Given the description of an element on the screen output the (x, y) to click on. 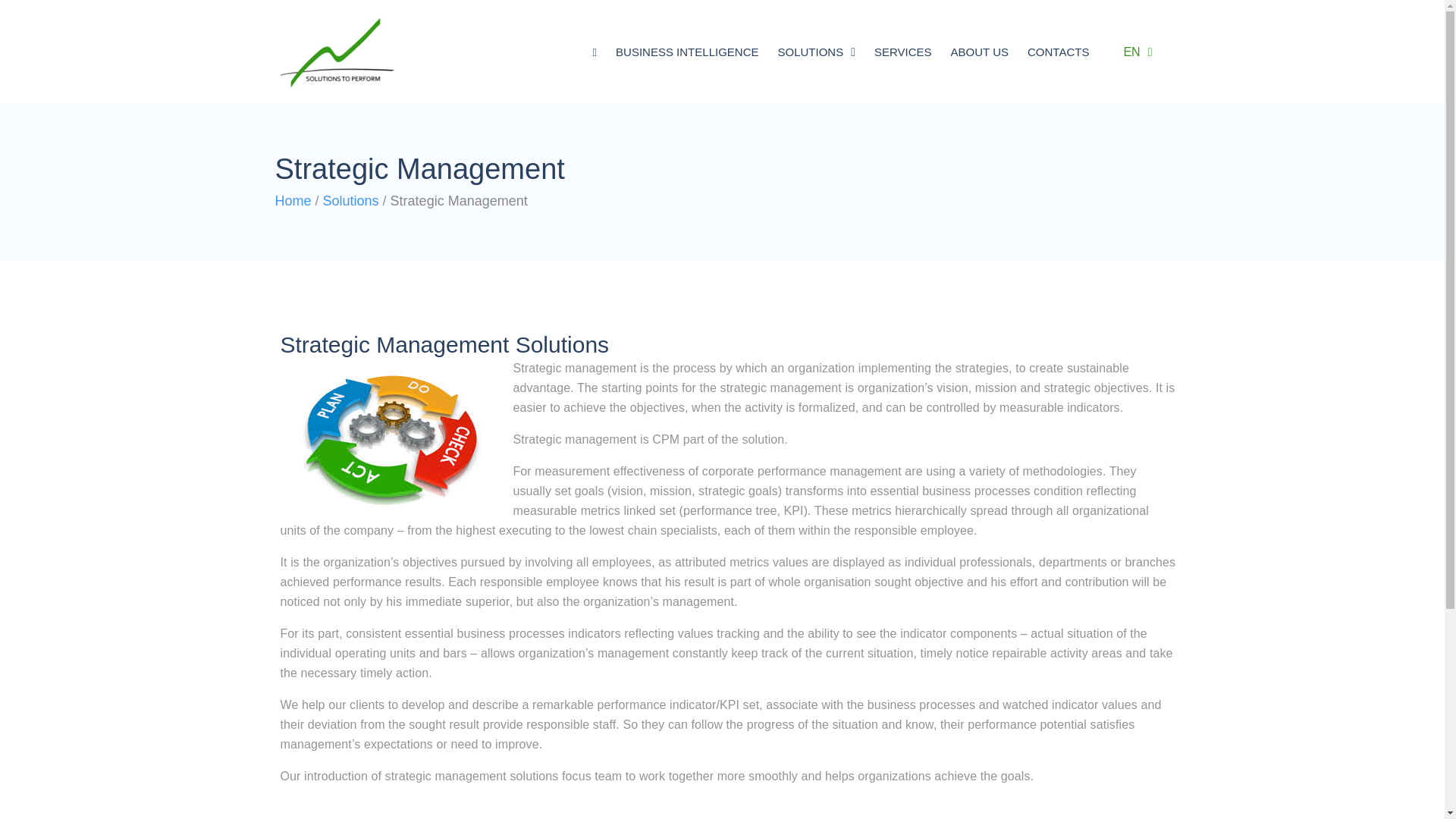
Solutions (350, 201)
BUSINESS INTELLIGENCE (687, 51)
CONTACTS (1058, 51)
SERVICES (903, 51)
Home (293, 201)
Solutions (350, 201)
ABOUT US (979, 51)
SOLUTIONS (815, 51)
EN (1133, 51)
Home (293, 201)
